Given the description of an element on the screen output the (x, y) to click on. 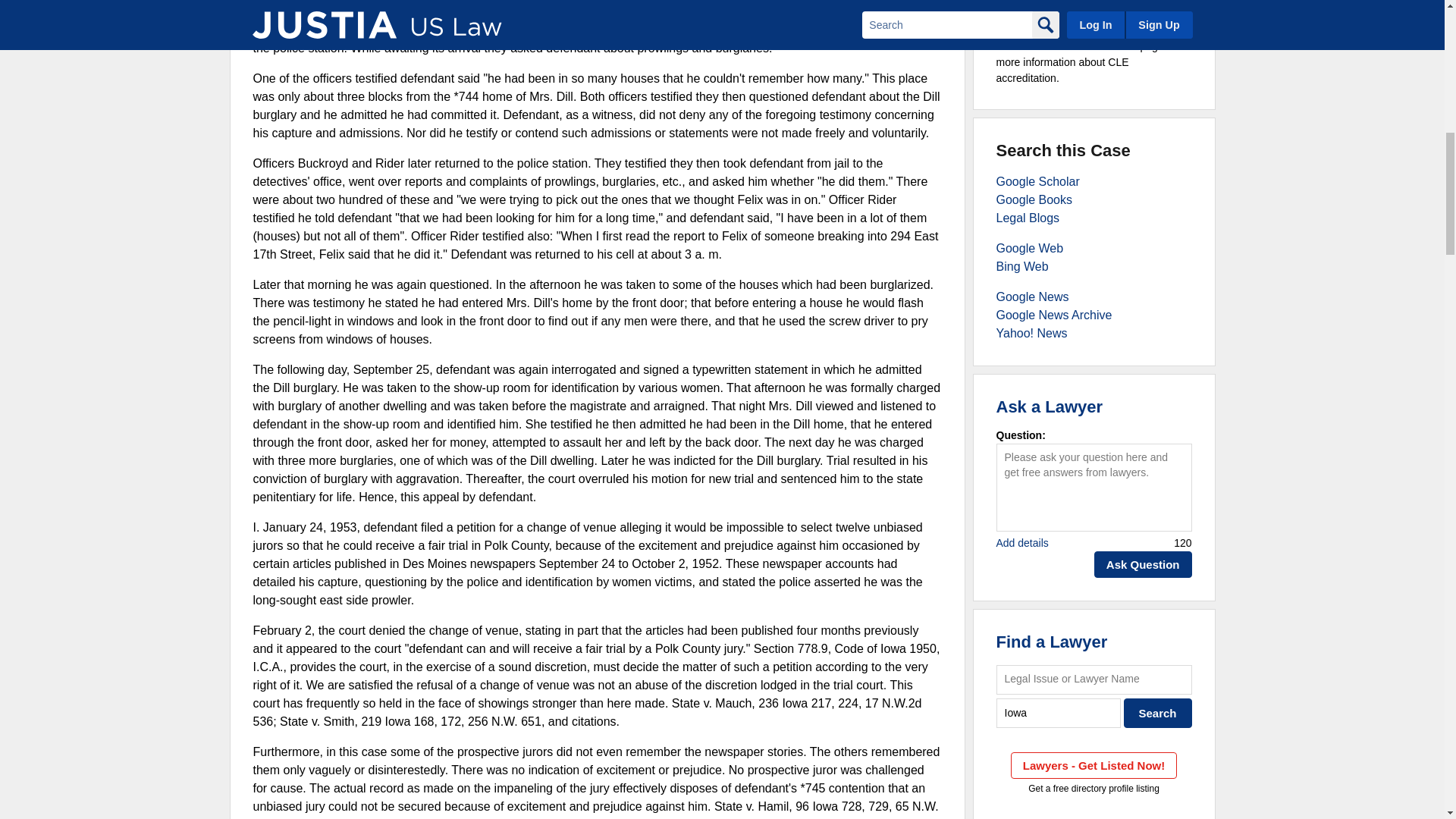
Law - Bing Web (1021, 266)
Law - Google Scholar (1037, 181)
Law - Yahoo! News (1031, 332)
Iowa (1058, 713)
Law - Google Web (1029, 247)
City, State (1058, 713)
Legal Issue or Lawyer Name (1093, 679)
Law - Google News (1031, 296)
Law - Google News Archive (1053, 314)
Search (1158, 713)
Search (1158, 713)
Law - Google Books (1034, 199)
Law - Legal Blogs (1027, 217)
